Given the description of an element on the screen output the (x, y) to click on. 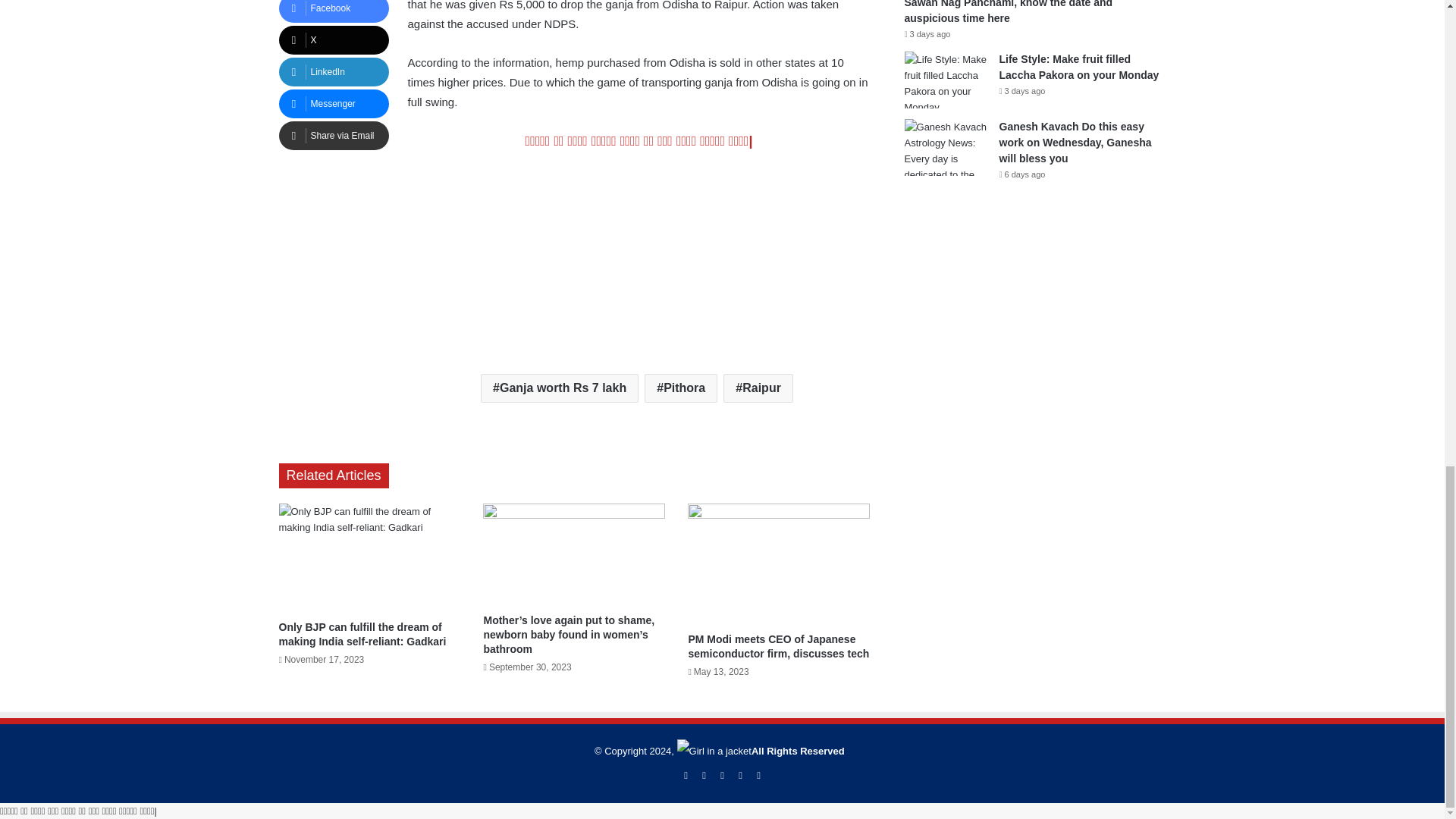
X (333, 39)
Messenger (333, 103)
LinkedIn (333, 71)
Facebook (333, 11)
